Given the description of an element on the screen output the (x, y) to click on. 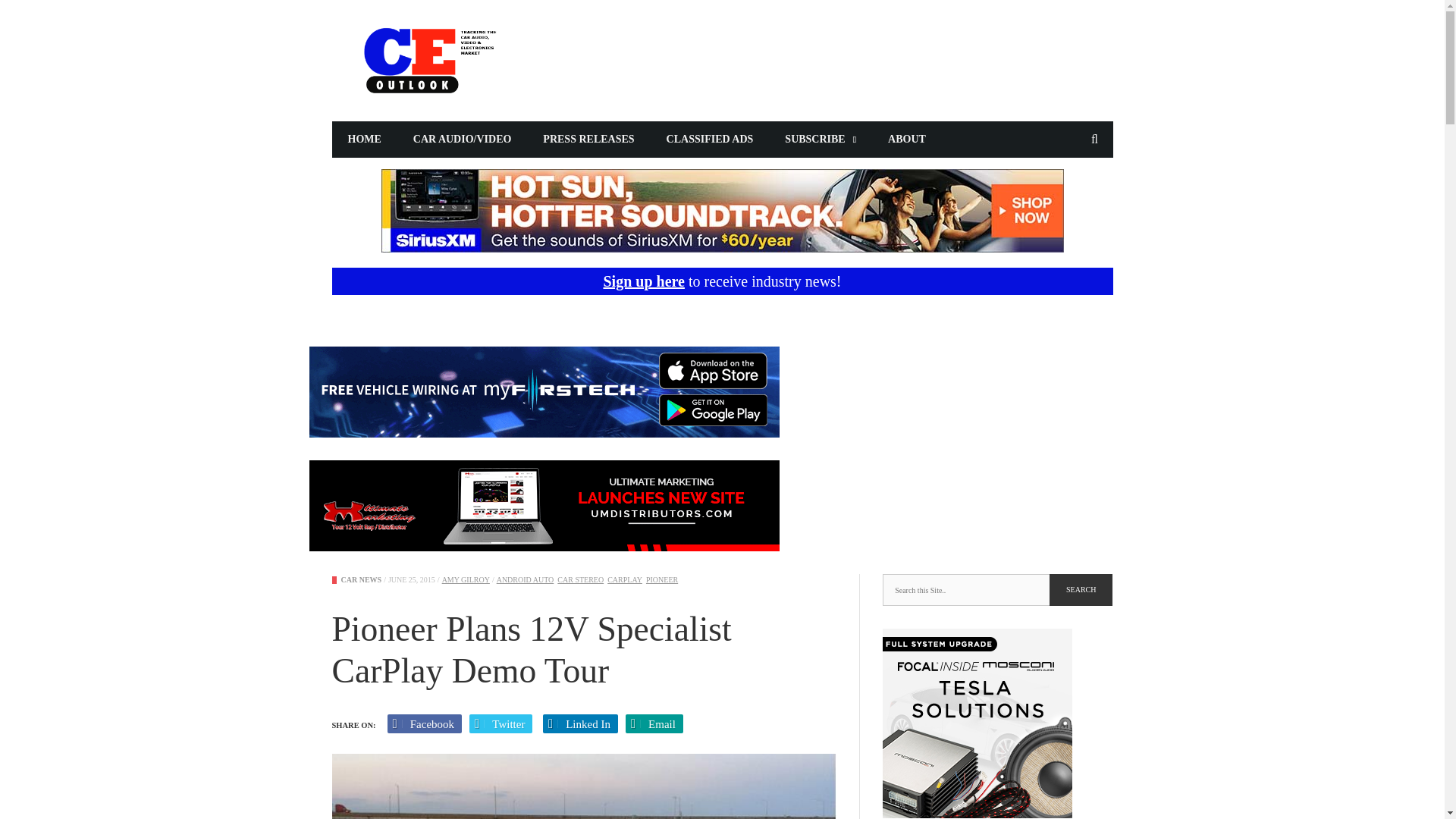
HOME (364, 139)
ANDROID AUTO (525, 579)
Search (1080, 590)
Pioneer (662, 579)
Search (1080, 590)
CAR NEWS (360, 579)
Facebook (425, 723)
PRESS RELEASES (588, 139)
Email (654, 723)
PIONEER (662, 579)
Car News (360, 579)
ABOUT (907, 139)
AMY GILROY (465, 579)
CAR STEREO (580, 579)
Linked In (580, 723)
